Given the description of an element on the screen output the (x, y) to click on. 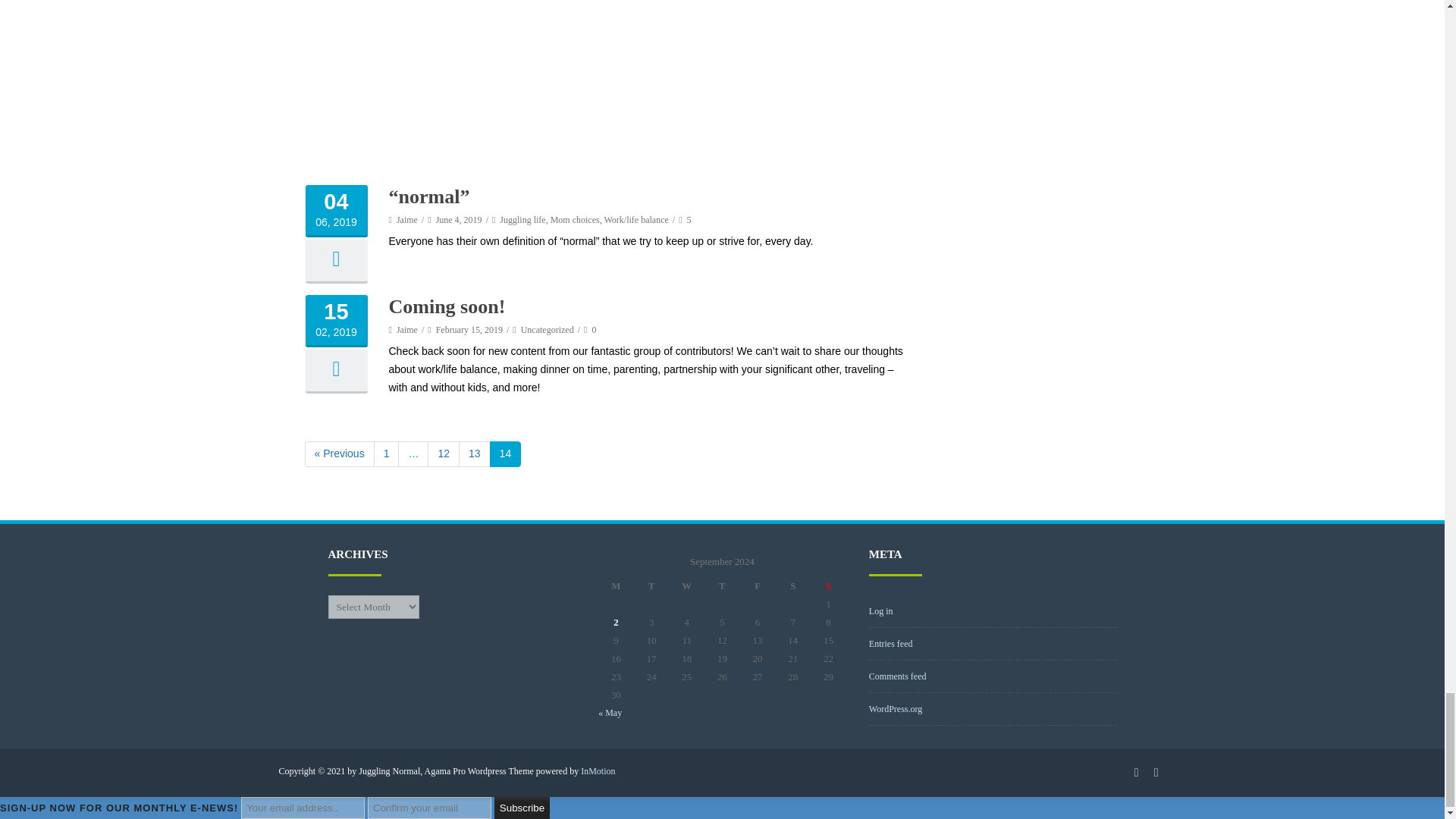
Thursday (721, 586)
Subscribe (522, 807)
Saturday (792, 586)
Monday (615, 586)
Tuesday (651, 586)
Friday (757, 586)
Wednesday (686, 586)
Sunday (827, 586)
